Given the description of an element on the screen output the (x, y) to click on. 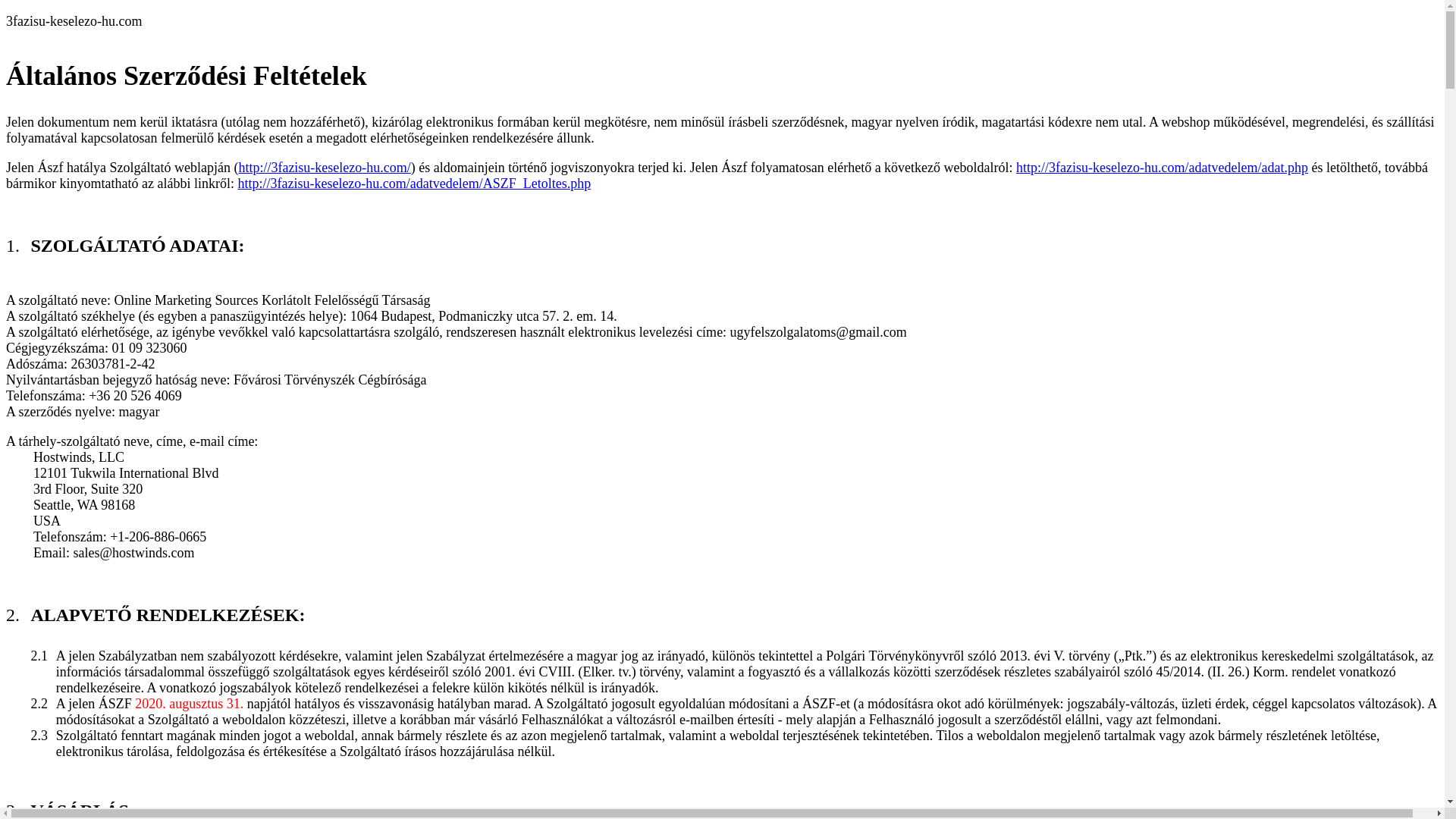
http://3fazisu-keselezo-hu.com/adatvedelem/ASZF_Letoltes.php Element type: text (413, 183)
http://3fazisu-keselezo-hu.com/adatvedelem/adat.php Element type: text (1162, 167)
http://3fazisu-keselezo-hu.com/ Element type: text (324, 167)
